Given the description of an element on the screen output the (x, y) to click on. 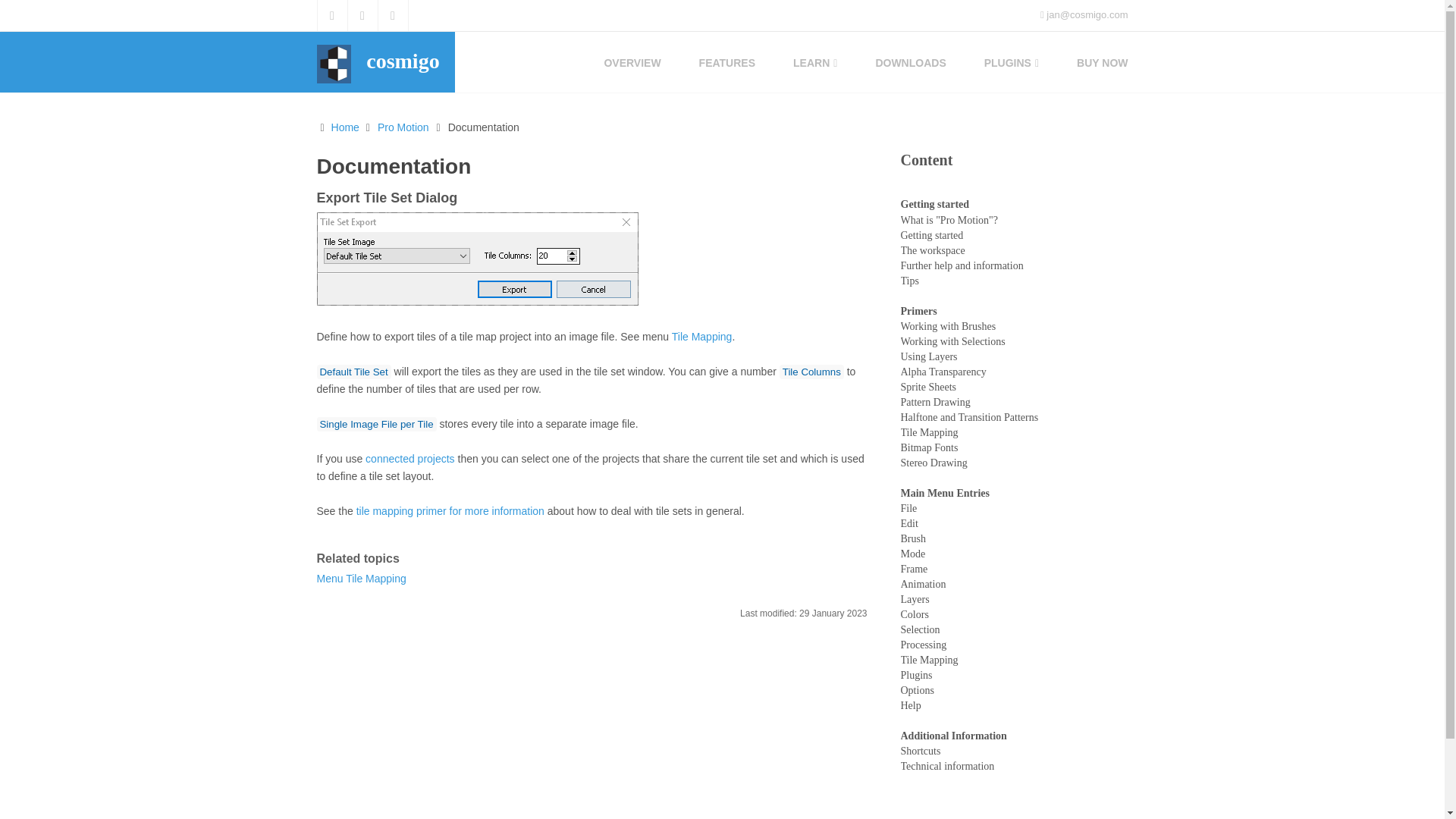
Getting started (932, 235)
Bitmap Fonts (929, 447)
Using Layers (929, 356)
Halftone and Transition Patterns (970, 417)
What is "Pro Motion"? (949, 220)
Pattern Drawing (936, 401)
Tips (909, 280)
The workspace (933, 250)
tile mapping primer for more information (450, 510)
connected projects (409, 458)
